Given the description of an element on the screen output the (x, y) to click on. 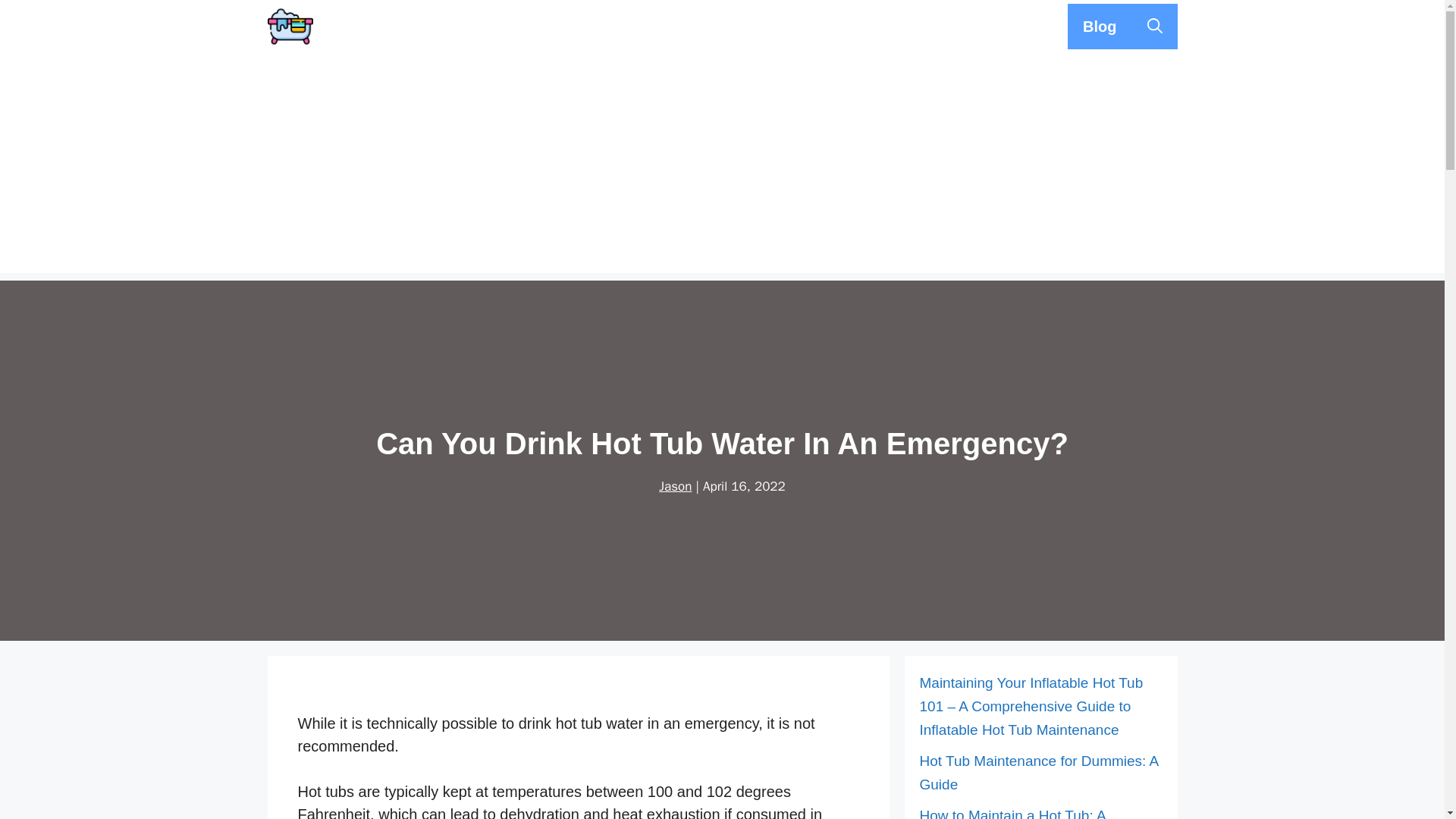
How to Maintain a Hot Tub: A Comprehensive Guide (1011, 812)
Blog (1099, 26)
Jason (675, 485)
Hot Tub Maintenance for Dummies: A Guide (1037, 771)
View all posts by Jason (675, 485)
